Given the description of an element on the screen output the (x, y) to click on. 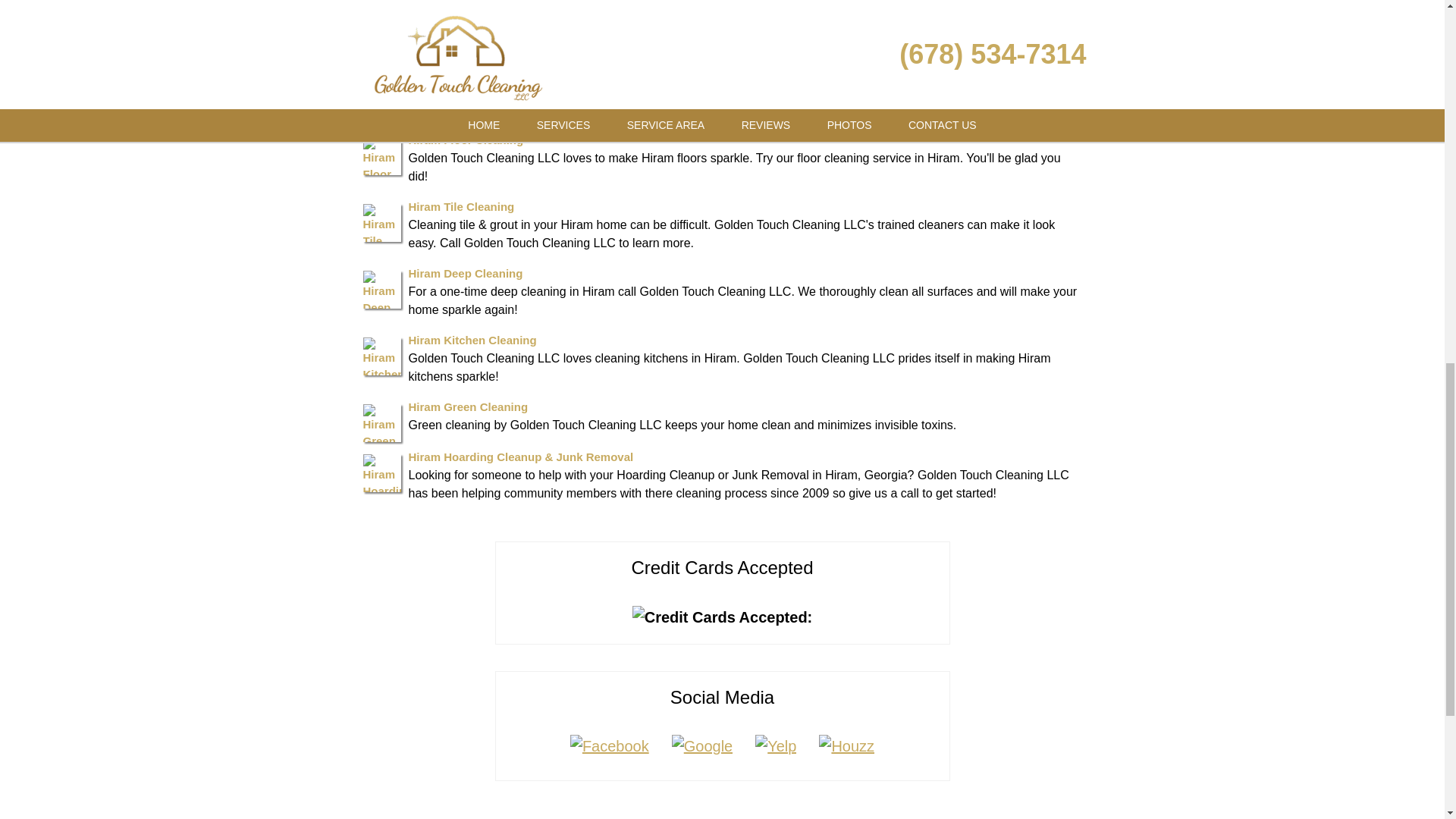
Hiram Construction Cleaning (486, 72)
Hiram Maid Service (459, 22)
Google (702, 745)
Yelp (776, 745)
Facebook (610, 745)
Houzz (846, 745)
Hiram Floor Cleaning (464, 139)
